Given the description of an element on the screen output the (x, y) to click on. 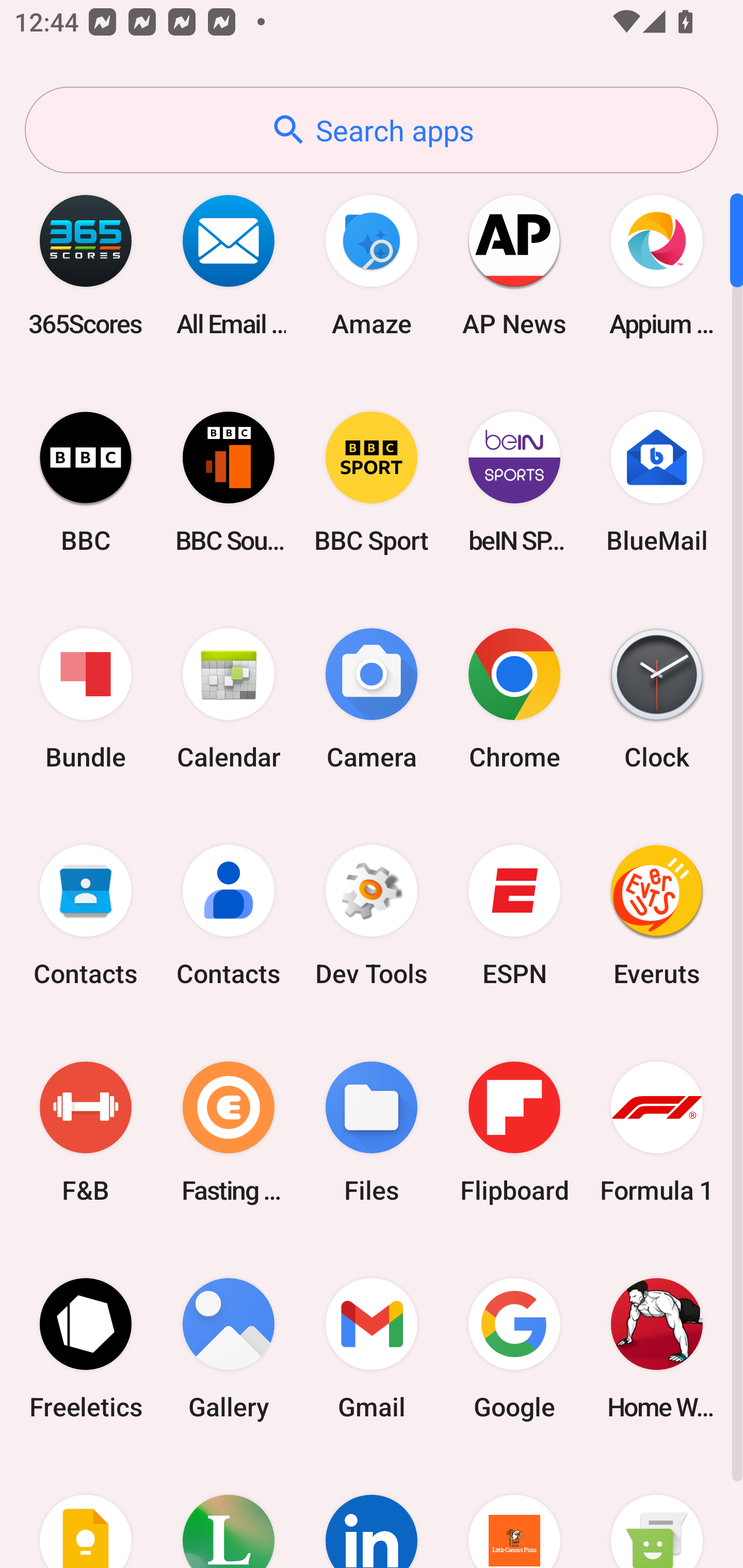
  Search apps (371, 130)
365Scores (85, 264)
All Email Connect (228, 264)
Amaze (371, 264)
AP News (514, 264)
Appium Settings (656, 264)
BBC (85, 482)
BBC Sounds (228, 482)
BBC Sport (371, 482)
beIN SPORTS (514, 482)
BlueMail (656, 482)
Bundle (85, 699)
Calendar (228, 699)
Camera (371, 699)
Chrome (514, 699)
Clock (656, 699)
Contacts (85, 915)
Contacts (228, 915)
Dev Tools (371, 915)
ESPN (514, 915)
Everuts (656, 915)
F&B (85, 1131)
Fasting Coach (228, 1131)
Files (371, 1131)
Flipboard (514, 1131)
Formula 1 (656, 1131)
Freeletics (85, 1348)
Gallery (228, 1348)
Gmail (371, 1348)
Google (514, 1348)
Home Workout (656, 1348)
Keep Notes (85, 1512)
Lifesum (228, 1512)
LinkedIn (371, 1512)
Little Caesars Pizza (514, 1512)
Messaging (656, 1512)
